Given the description of an element on the screen output the (x, y) to click on. 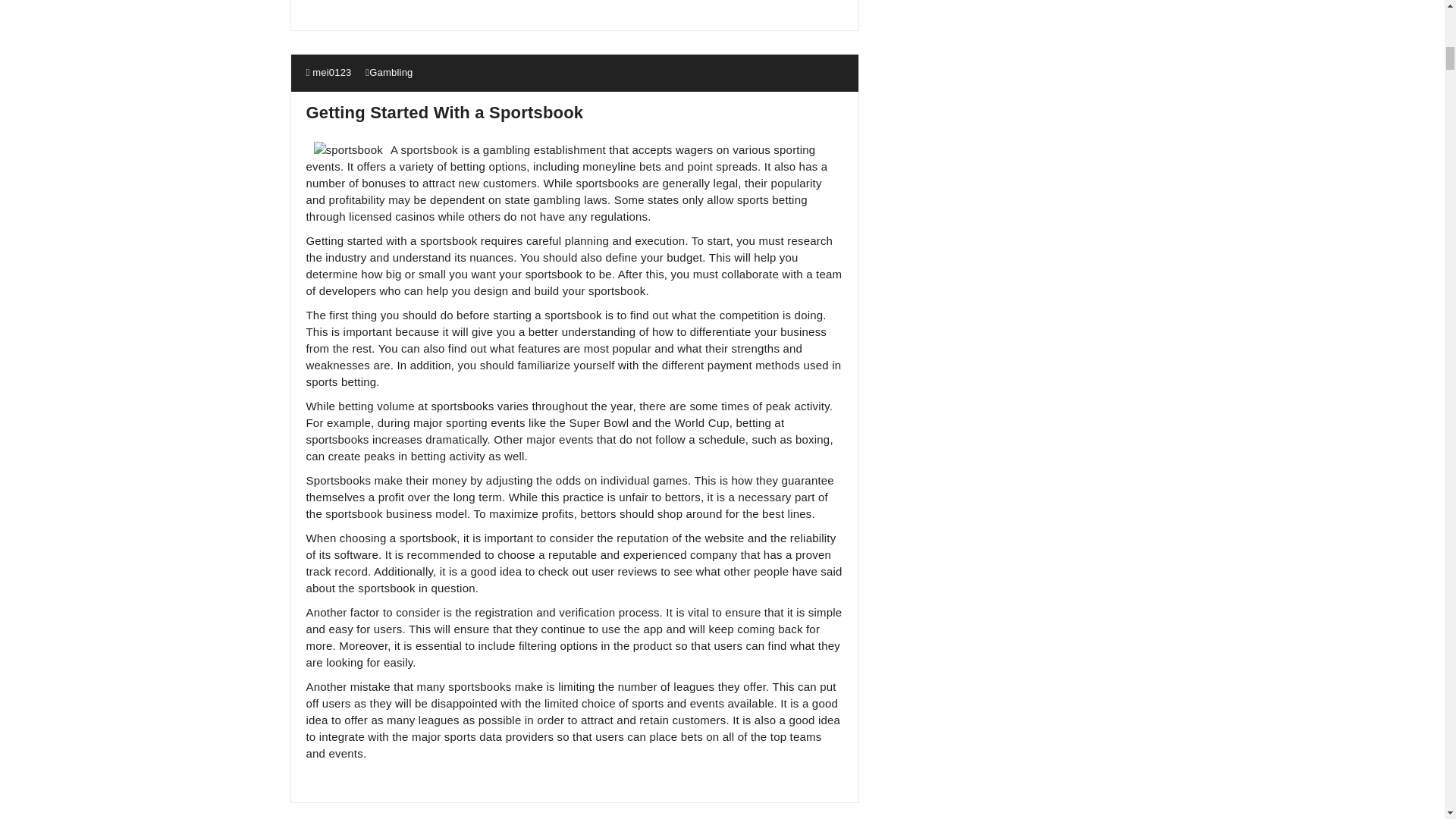
mei0123 (328, 71)
Getting Started With a Sportsbook (444, 112)
Gambling (390, 71)
